Given the description of an element on the screen output the (x, y) to click on. 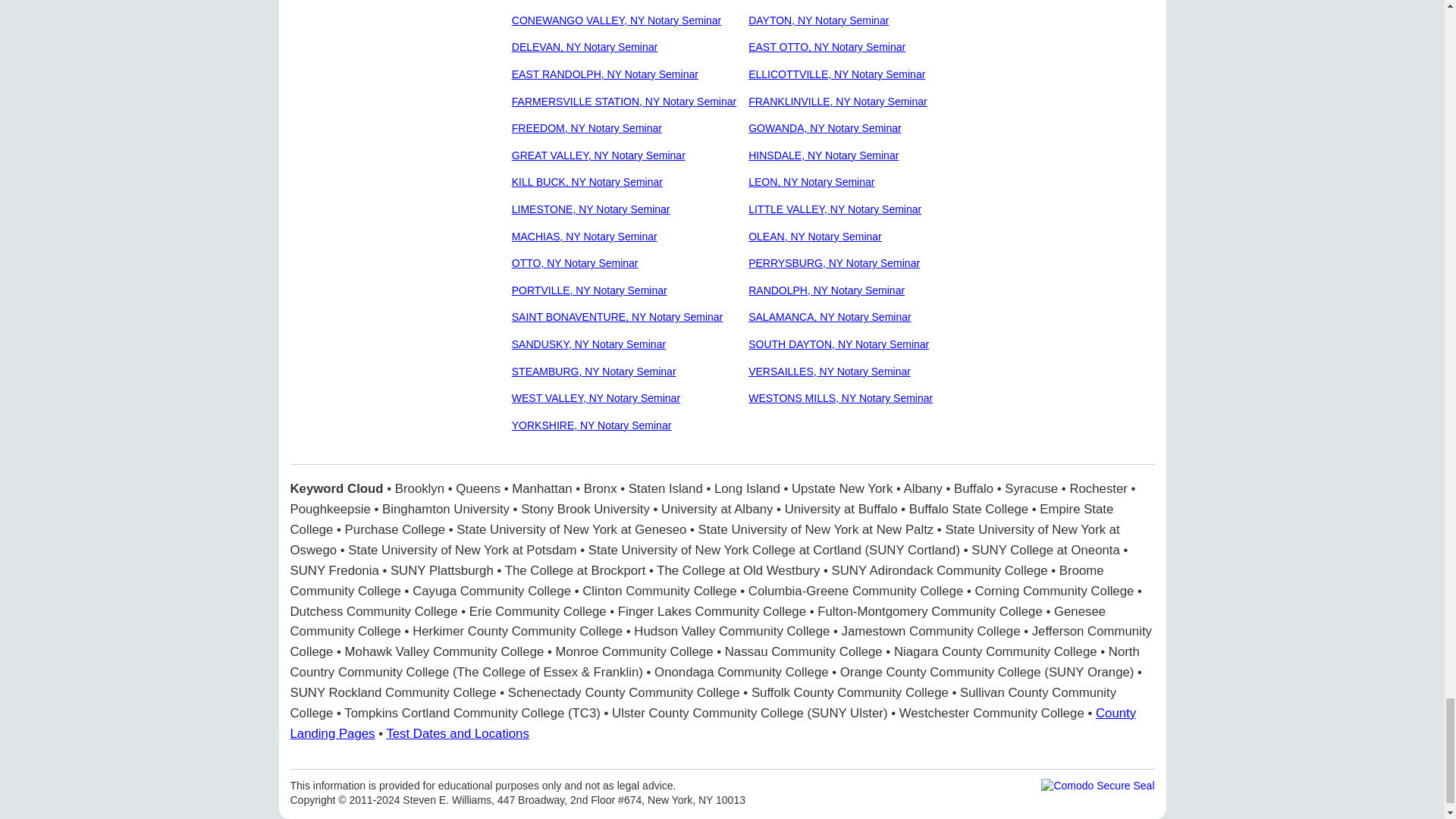
CONEWANGO VALLEY, NY Notary Seminar (616, 20)
DELEVAN, NY Notary Seminar (585, 46)
FREEDOM, NY Notary Seminar (587, 128)
DAYTON, NY Notary Seminar (818, 20)
FRANKLINVILLE, NY Notary Seminar (837, 101)
EAST RANDOLPH, NY Notary Seminar (605, 73)
FARMERSVILLE STATION, NY Notary Seminar (624, 101)
EAST OTTO, NY Notary Seminar (826, 46)
ELLICOTTVILLE, NY Notary Seminar (836, 73)
